Given the description of an element on the screen output the (x, y) to click on. 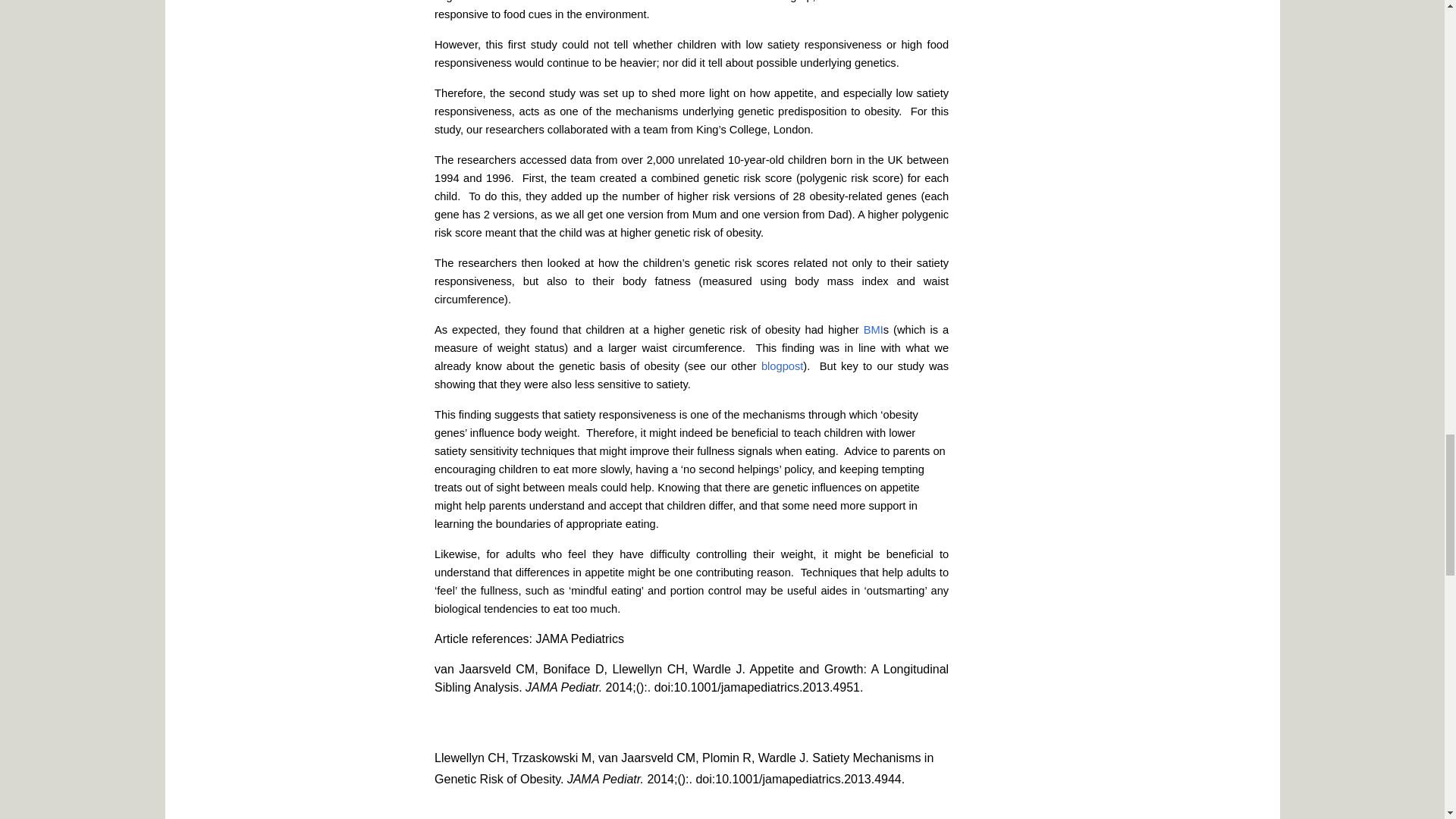
BMI (873, 329)
